Given the description of an element on the screen output the (x, y) to click on. 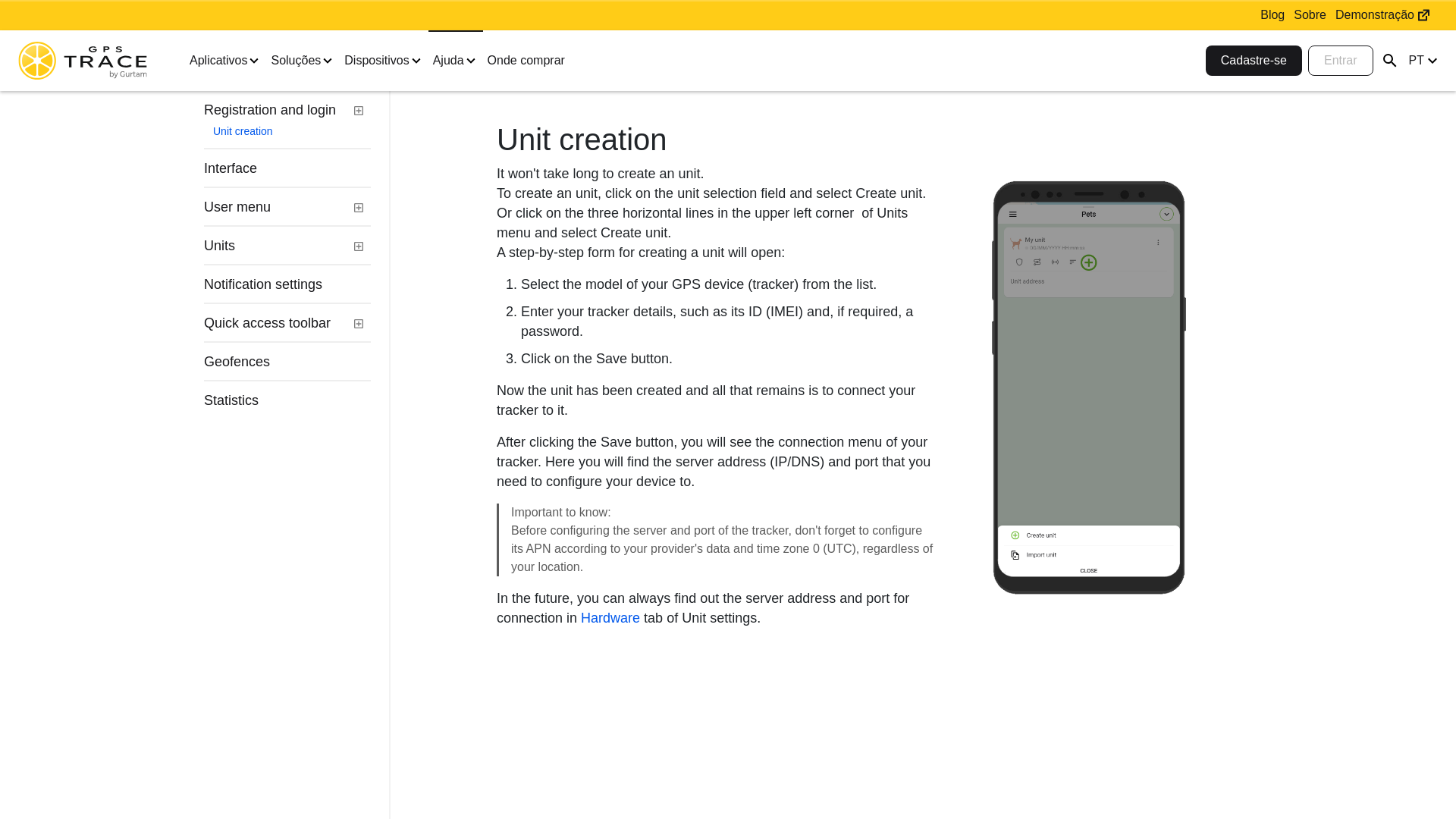
Ajuda (455, 60)
Entrar (1340, 60)
PT (1421, 60)
Dispositivos (383, 60)
Cadastre-se (1253, 60)
Onde comprar (526, 60)
Sobre (1309, 14)
Blog (1271, 14)
